Given the description of an element on the screen output the (x, y) to click on. 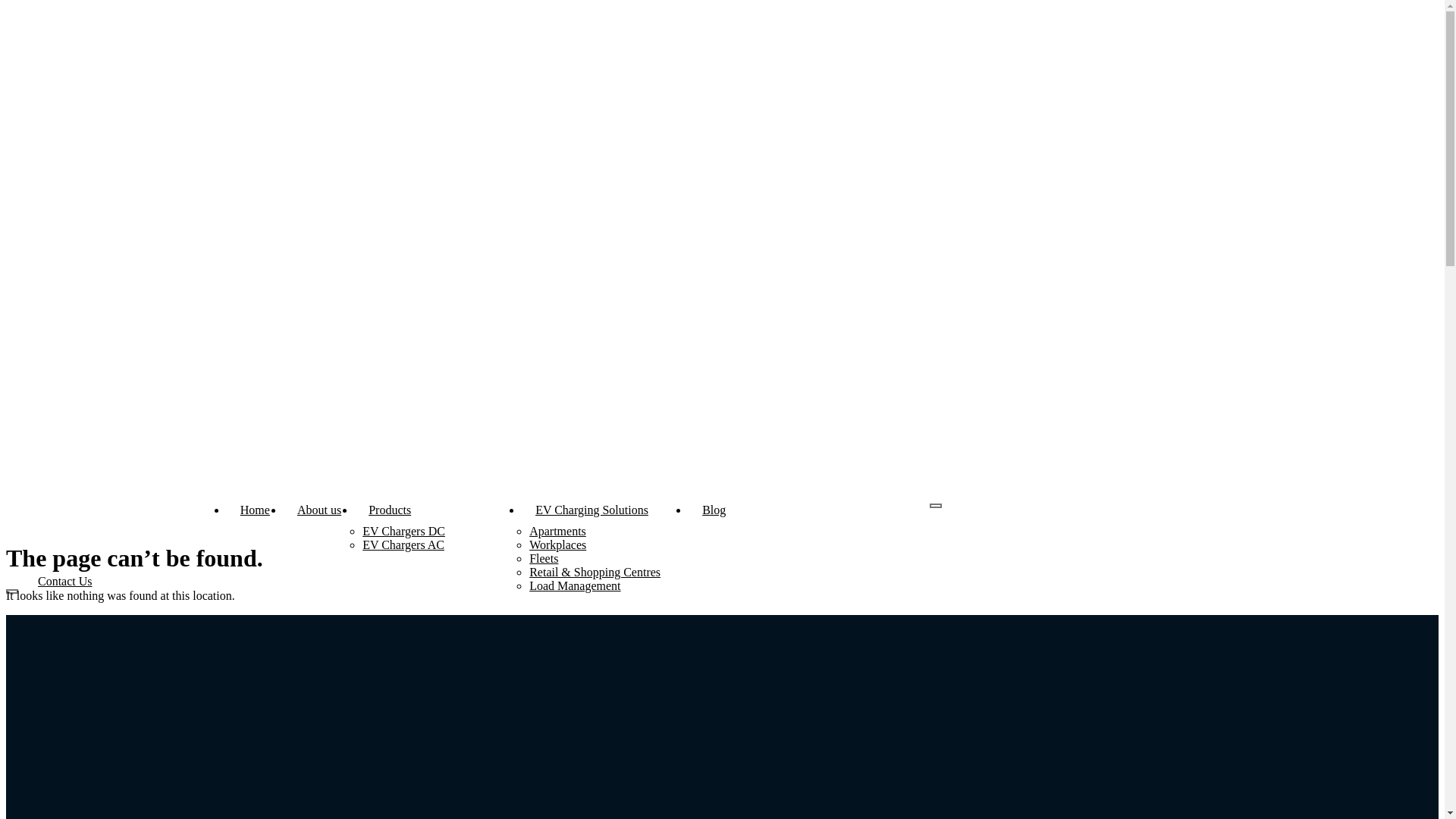
About us Element type: text (318, 510)
Fleets Element type: text (543, 558)
Contact Us Element type: text (64, 581)
Home Element type: text (254, 510)
Load Management Element type: text (574, 585)
Blog Element type: text (713, 510)
EV Chargers AC Element type: text (403, 544)
Retail & Shopping Centres Element type: text (594, 571)
Products Element type: text (437, 510)
Workplaces Element type: text (557, 544)
EV Chargers DC Element type: text (403, 530)
Apartments Element type: text (557, 530)
EV Charging Solutions Element type: text (604, 510)
